Given the description of an element on the screen output the (x, y) to click on. 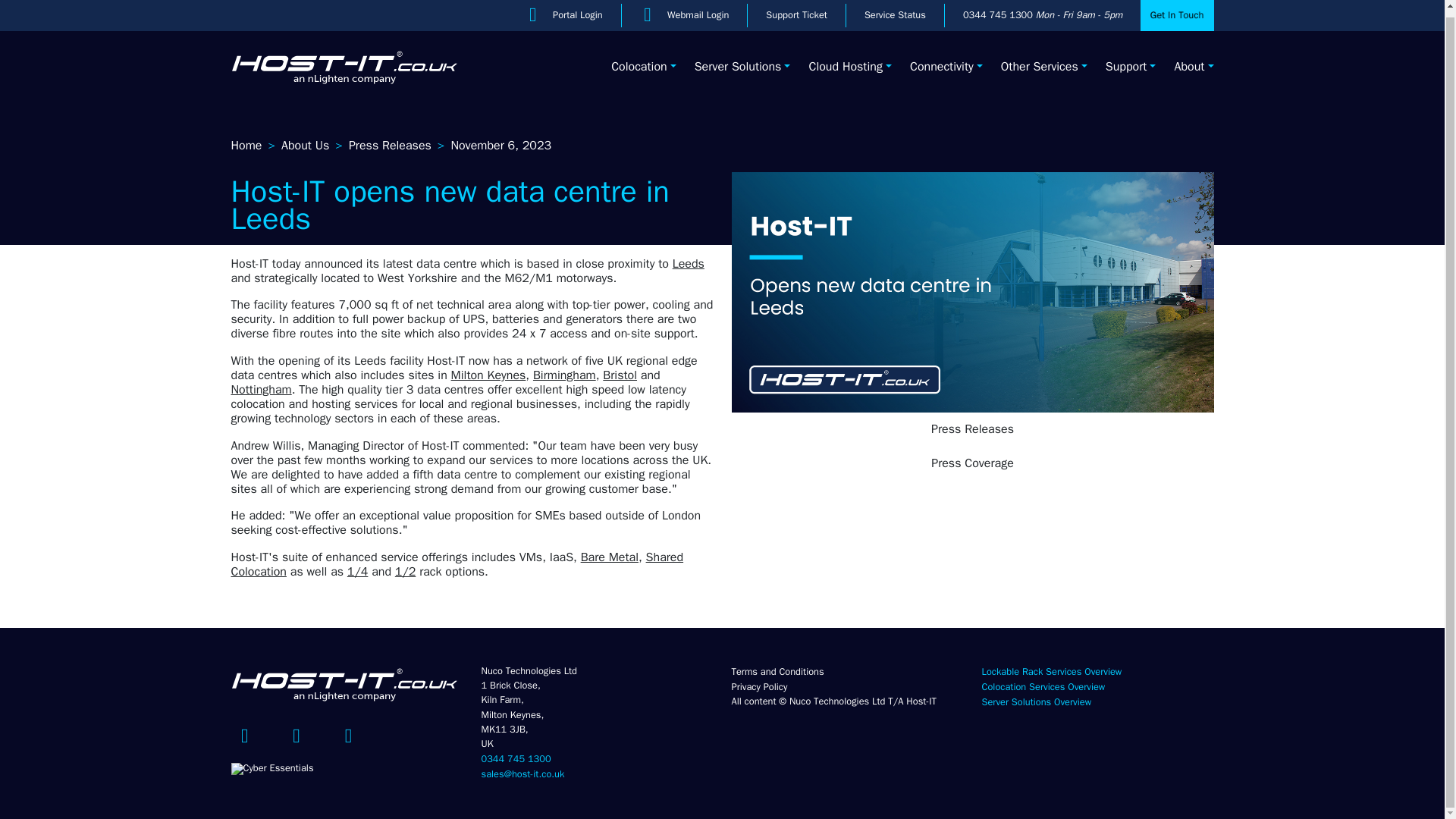
0344 745 1300 Mon - Fri 9am - 5pm (1042, 10)
Facebook (243, 734)
Linked in (296, 734)
Service Status (894, 10)
Support Ticket (796, 10)
Get In Touch (1176, 12)
Twitter (347, 734)
Webmail Login (698, 10)
Portal Login (577, 10)
